Given the description of an element on the screen output the (x, y) to click on. 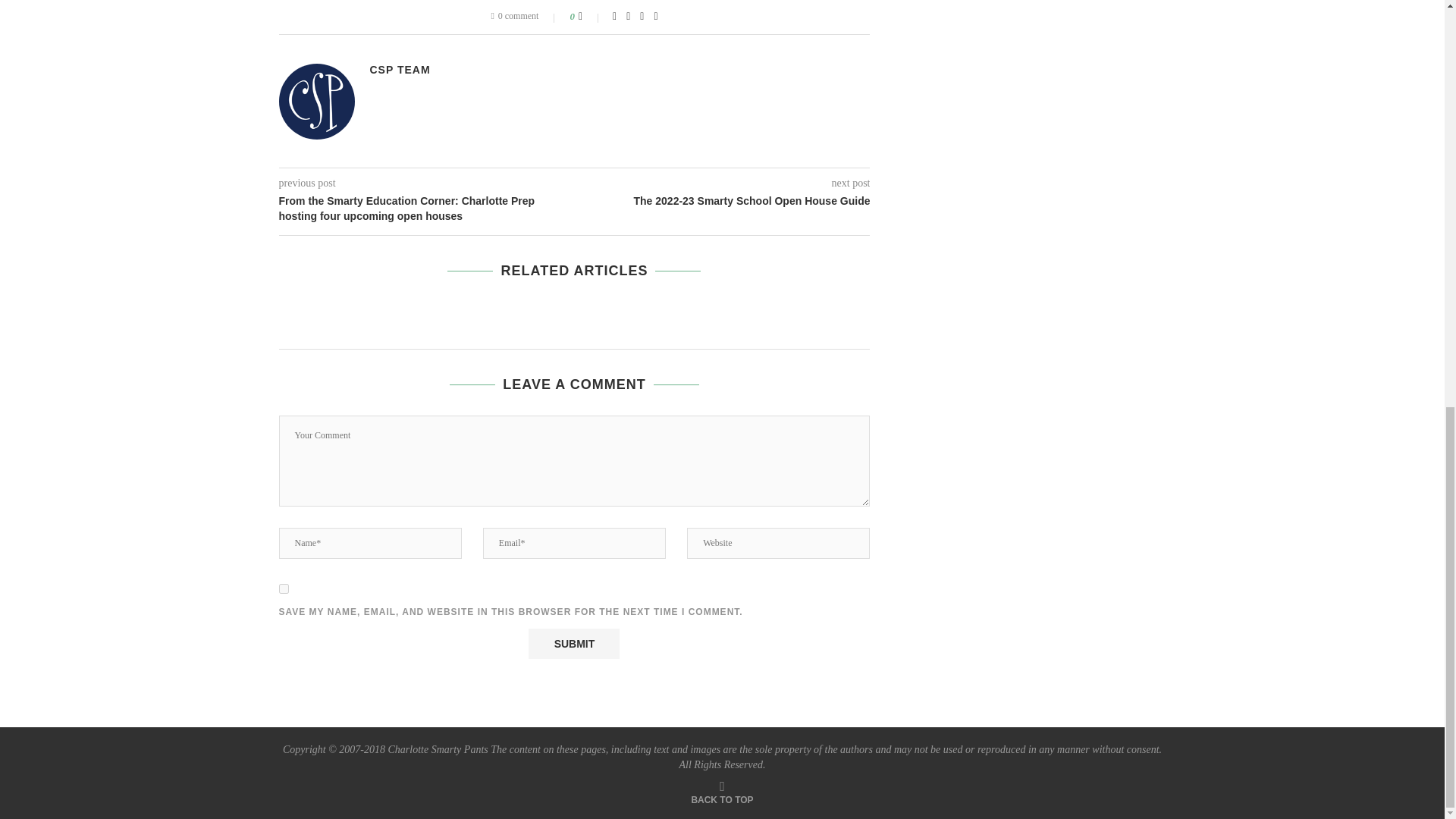
Like (590, 16)
yes (283, 588)
Submit (574, 643)
Posts by CSP Team (399, 69)
